Given the description of an element on the screen output the (x, y) to click on. 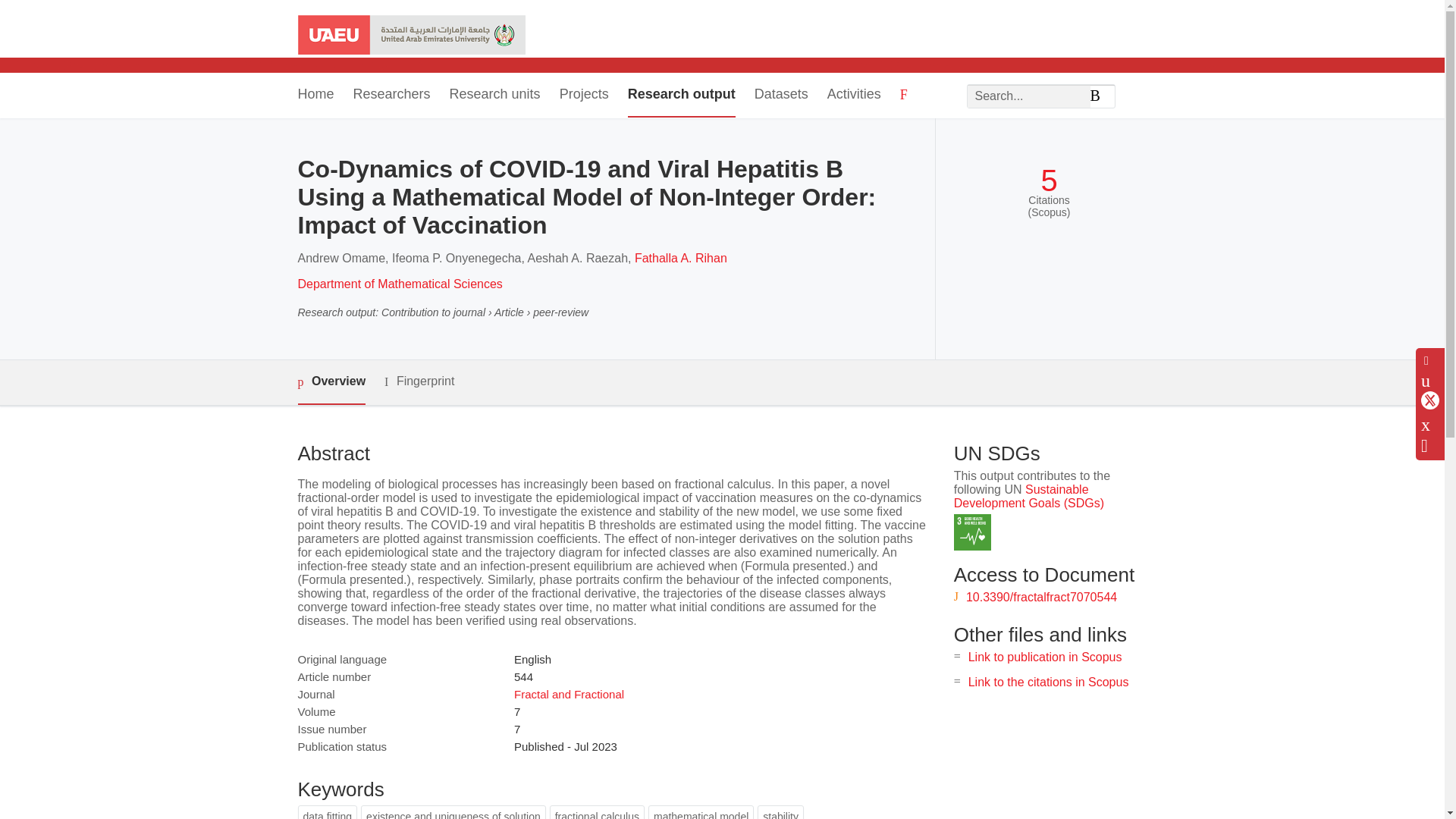
SDG 3 - Good Health and Well-being (972, 532)
Overview (331, 382)
Research units (494, 94)
Link to publication in Scopus (1045, 656)
Fathalla A. Rihan (680, 257)
Researchers (391, 94)
Datasets (781, 94)
Department of Mathematical Sciences (399, 283)
United Arab Emirates University Home (410, 36)
